Given the description of an element on the screen output the (x, y) to click on. 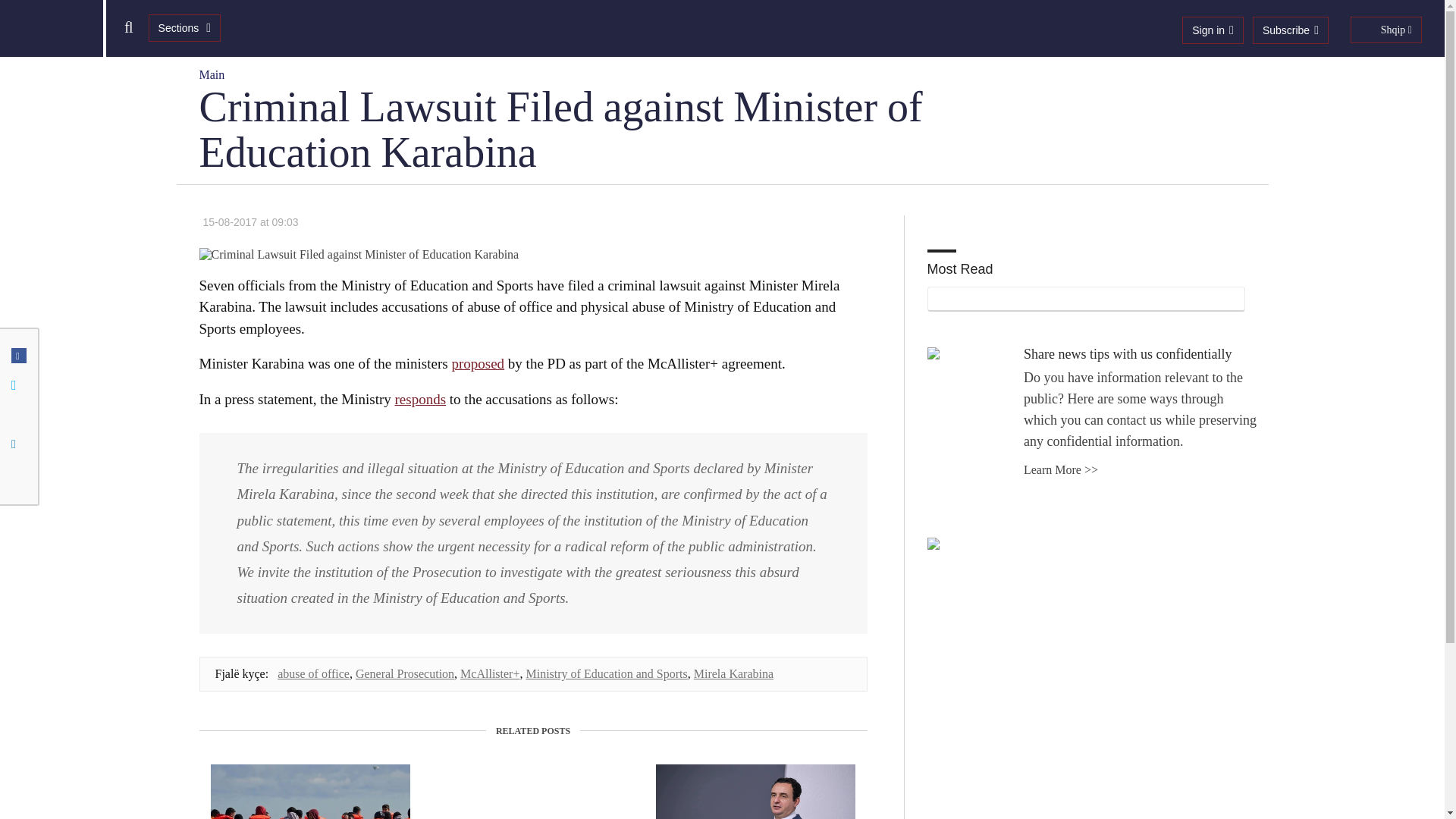
abuse of office (313, 673)
Subscribe (1289, 30)
  Shqip (1386, 29)
Share on LinkedIn (18, 444)
responds (420, 399)
Share on Twitter (18, 384)
Sections (184, 27)
Share on Messenger (18, 414)
proposed (477, 363)
